Given the description of an element on the screen output the (x, y) to click on. 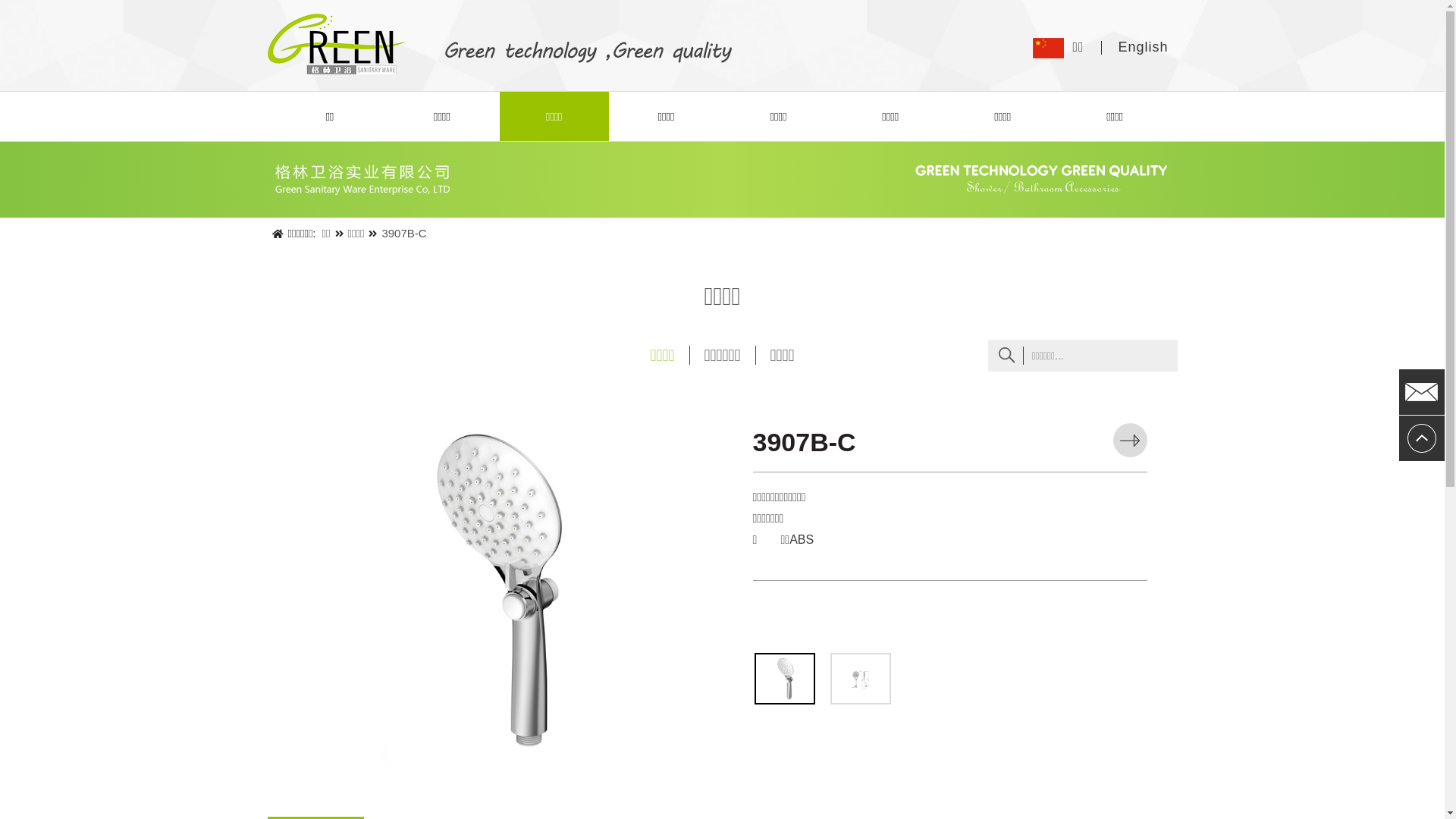
3907B-C Element type: text (403, 233)
